Given the description of an element on the screen output the (x, y) to click on. 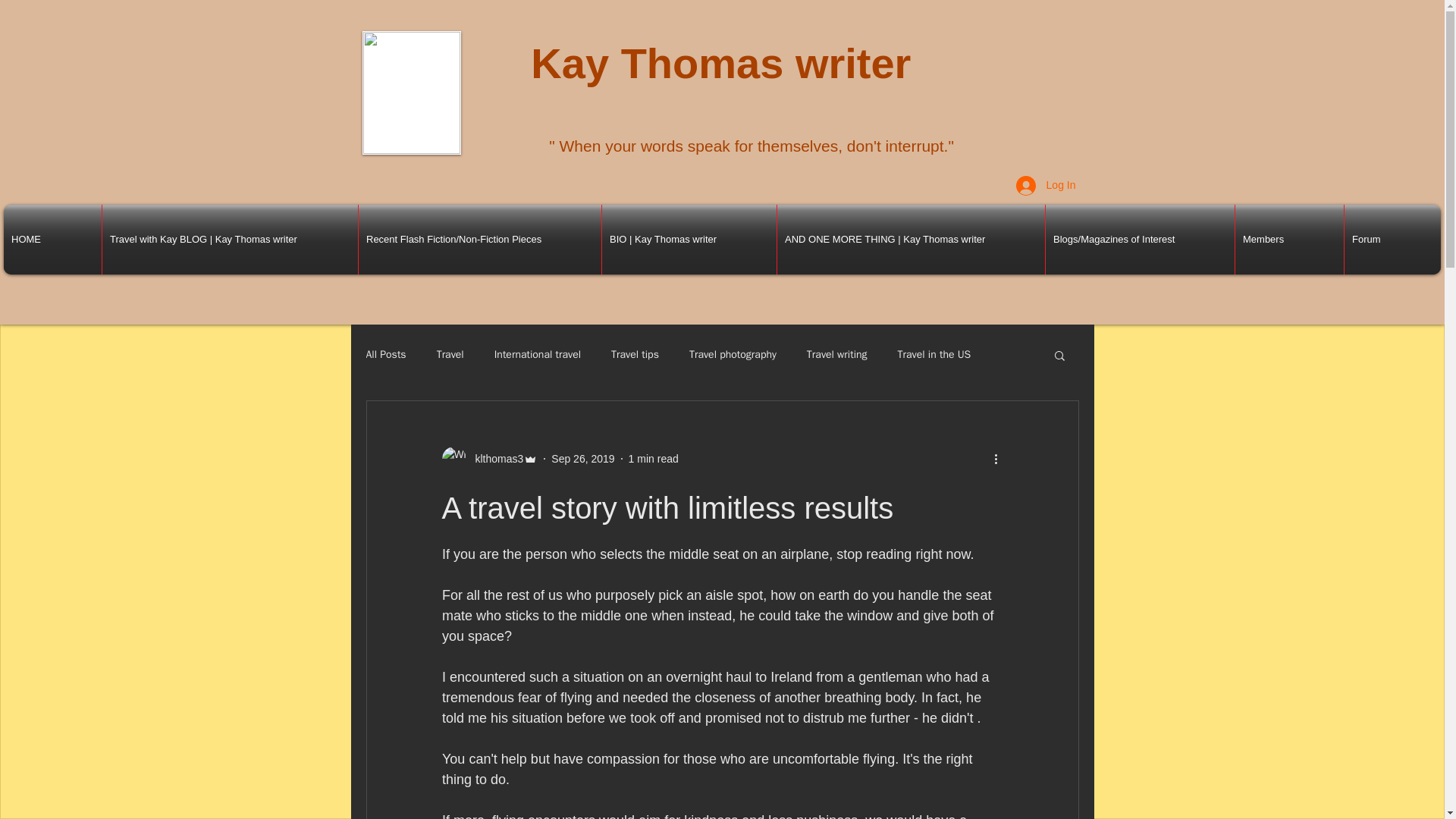
Travel (450, 354)
Travel in the US (934, 354)
Travel tips (635, 354)
Log In (1046, 185)
Sep 26, 2019 (582, 458)
Travel photography (732, 354)
klthomas3 (493, 458)
Forum (1392, 239)
Members (1288, 239)
International travel (537, 354)
